Given the description of an element on the screen output the (x, y) to click on. 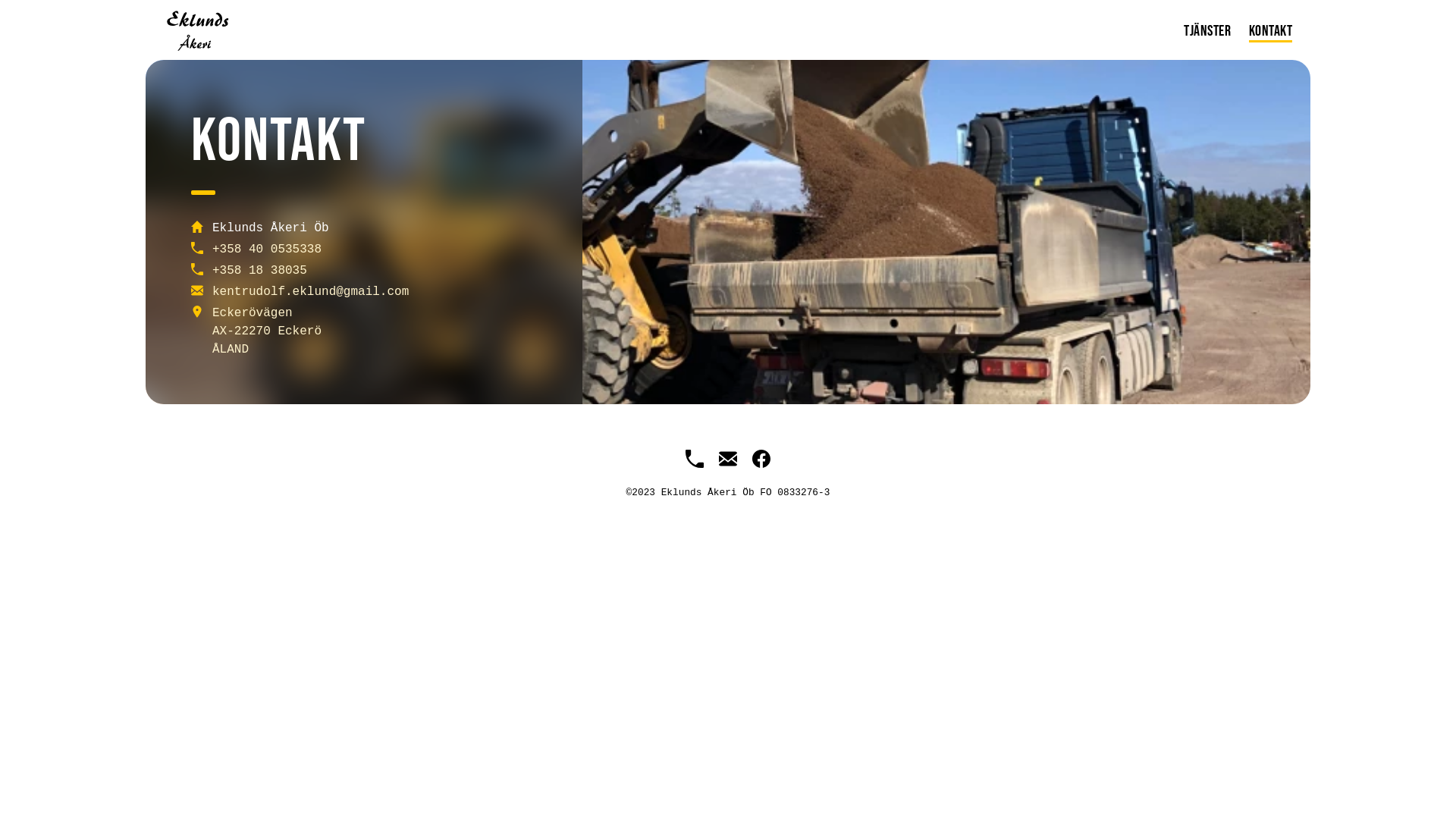
+358 18 38035 Element type: text (259, 270)
+358 40 0535338 Element type: text (266, 249)
kentrudolf.eklund@gmail.com Element type: text (310, 291)
Kontakt Element type: text (1270, 31)
